Given the description of an element on the screen output the (x, y) to click on. 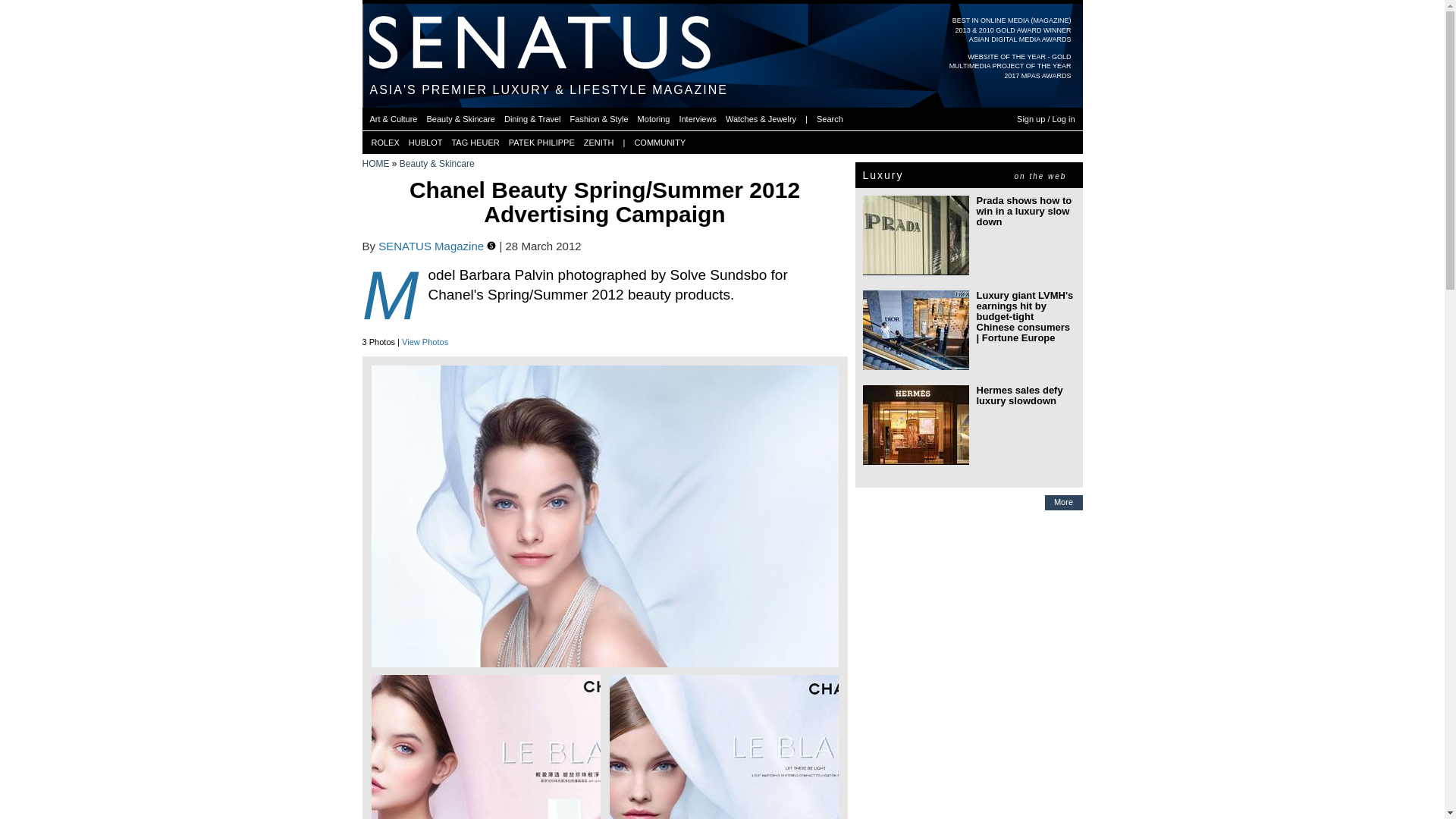
HUBLOT (425, 142)
ZENITH (598, 142)
ROLEX (385, 142)
Search (829, 118)
SENATUS Magazine (432, 245)
TAG HEUER (475, 142)
PATEK PHILIPPE (541, 142)
Motoring (653, 118)
COMMUNITY (659, 142)
